Given the description of an element on the screen output the (x, y) to click on. 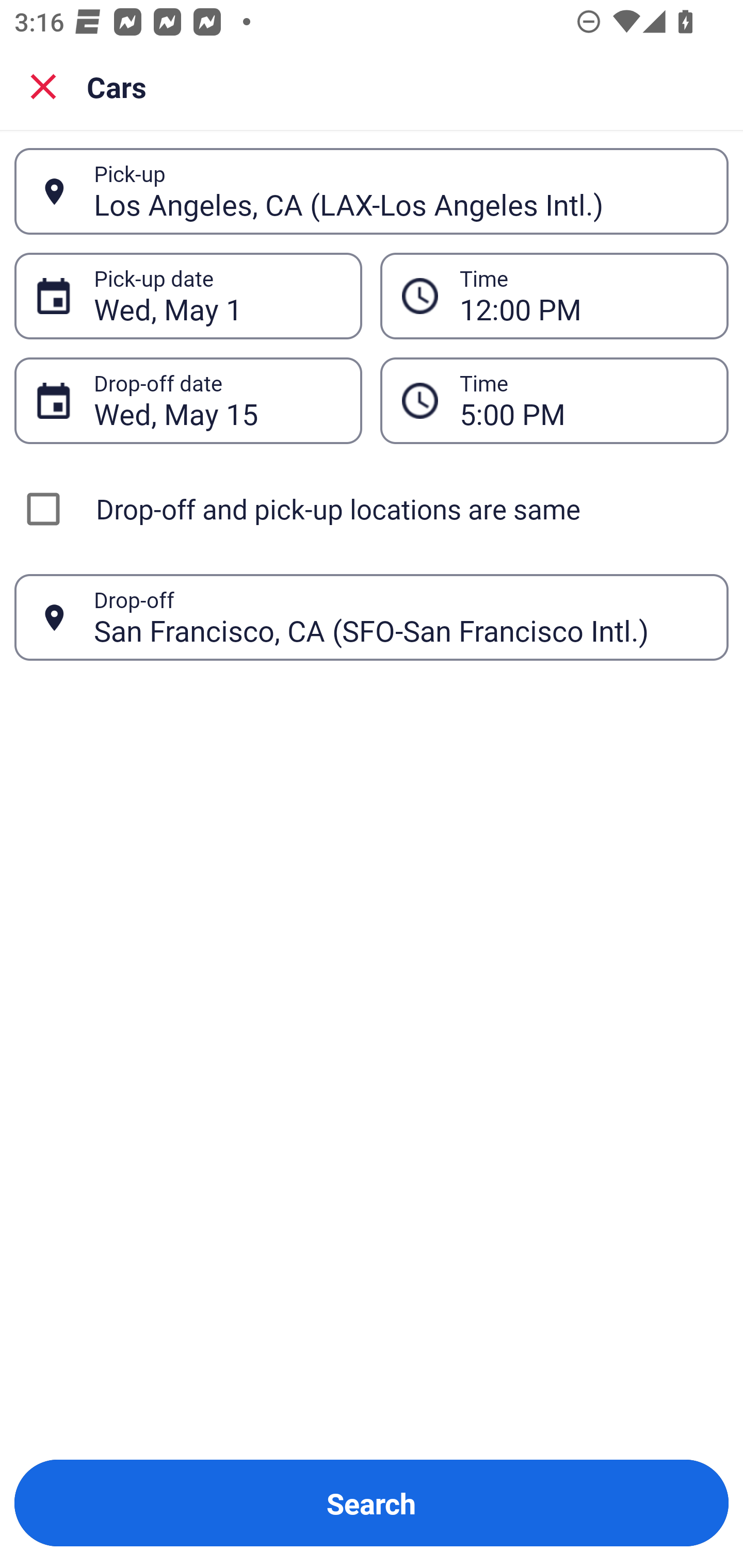
Close search screen (43, 86)
Los Angeles, CA (LAX-Los Angeles Intl.) Pick-up (371, 191)
Los Angeles, CA (LAX-Los Angeles Intl.) (399, 191)
Wed, May 1 Pick-up date (188, 295)
12:00 PM (554, 295)
Wed, May 1 (216, 296)
12:00 PM (582, 296)
Wed, May 15 Drop-off date (188, 400)
5:00 PM (554, 400)
Wed, May 15 (216, 400)
5:00 PM (582, 400)
Drop-off and pick-up locations are same (371, 508)
San Francisco, CA (SFO-San Francisco Intl.) (399, 616)
Search Button Search (371, 1502)
